Given the description of an element on the screen output the (x, y) to click on. 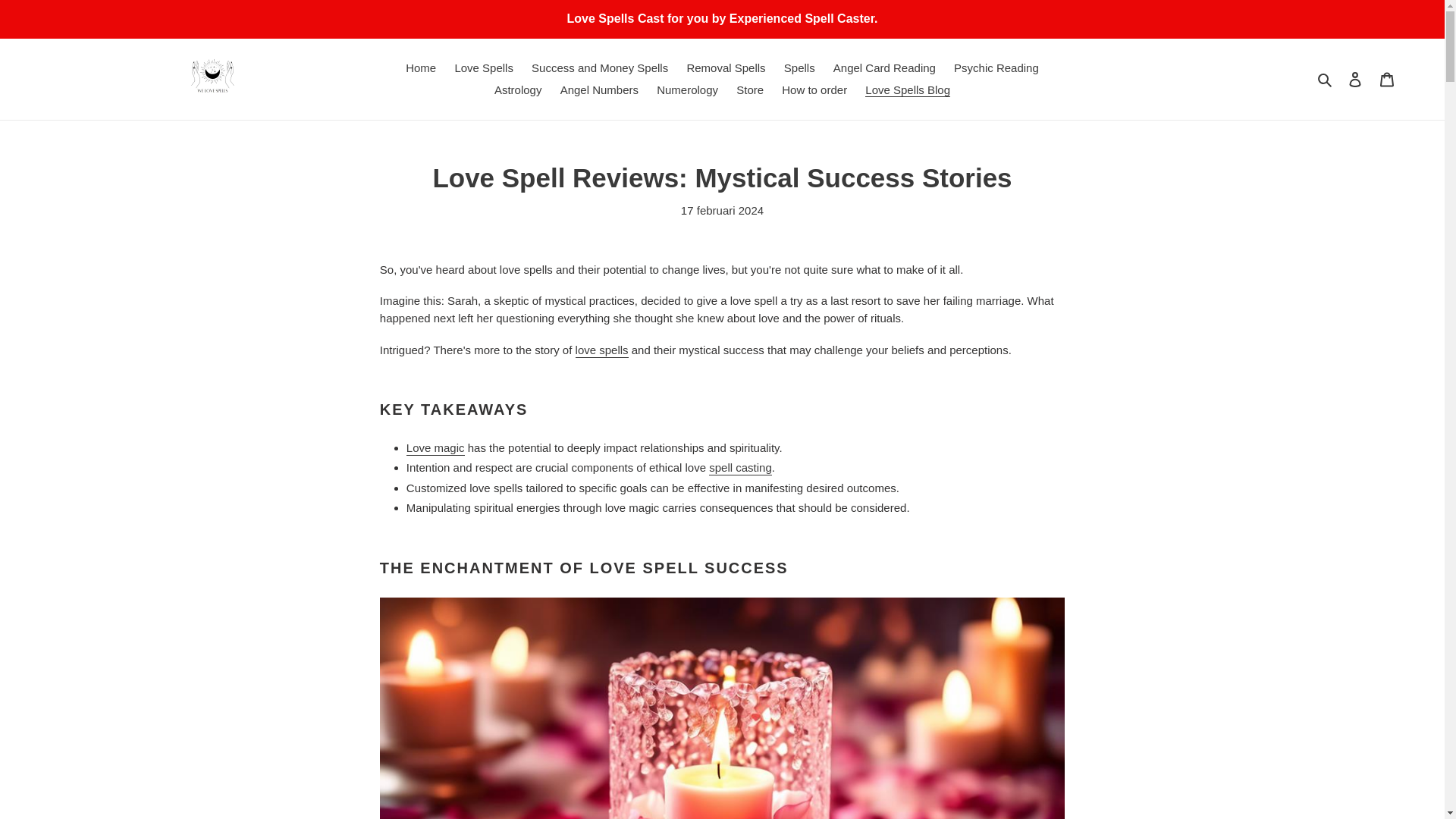
love spells (601, 350)
Spells (799, 68)
spell casting (740, 468)
spell casting (740, 468)
Love Spells (483, 68)
love spells (601, 350)
Angel Card Reading (884, 68)
Zoeken (1326, 78)
Removal Spells (725, 68)
Love Spells Cast for you by Experienced Spell Caster. (721, 18)
